Given the description of an element on the screen output the (x, y) to click on. 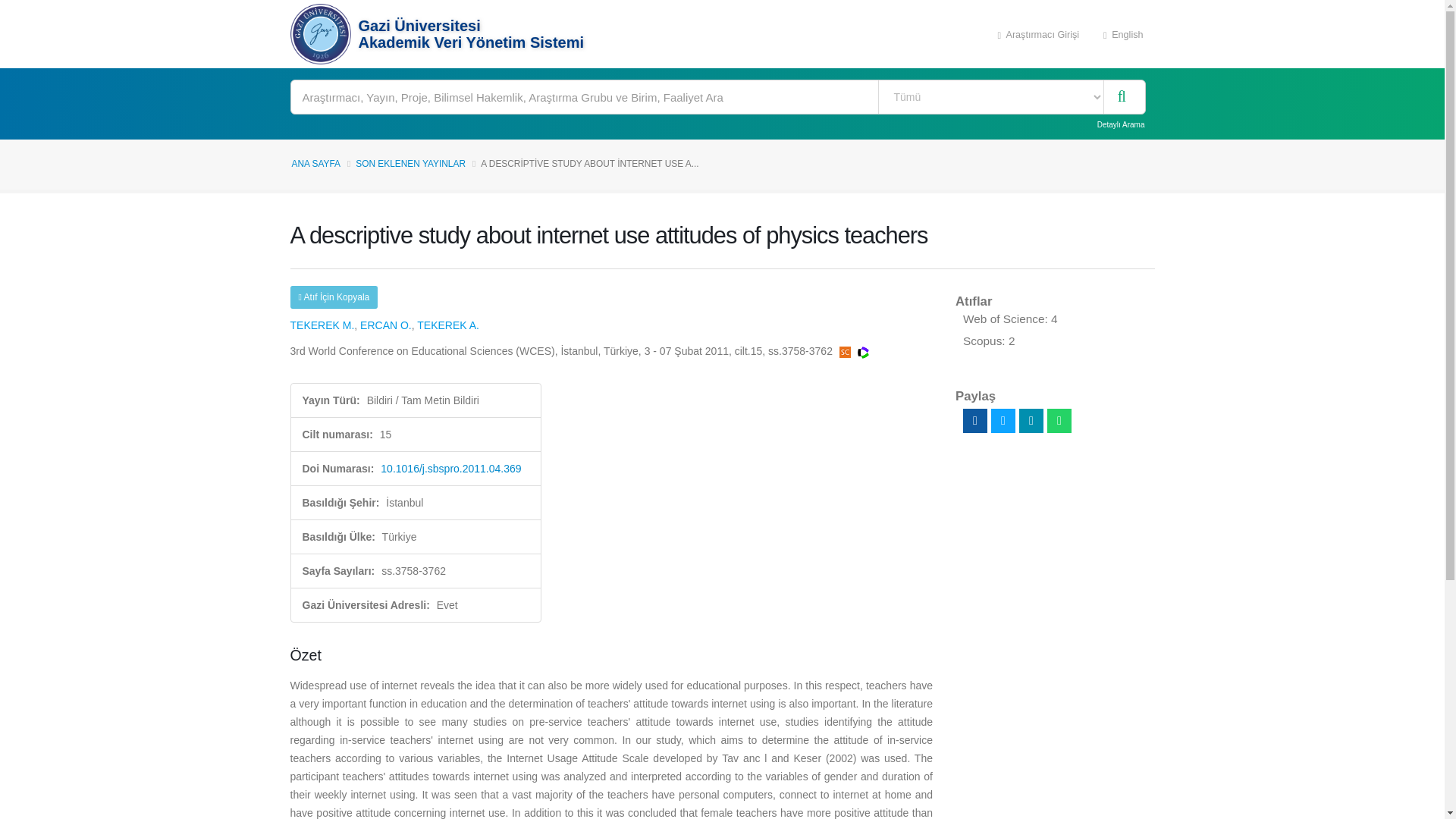
ERCAN O. (385, 325)
TEKEREK M. (321, 325)
ANA SAYFA (315, 163)
English (1123, 33)
SON EKLENEN YAYINLAR (410, 163)
TEKEREK A. (447, 325)
